Given the description of an element on the screen output the (x, y) to click on. 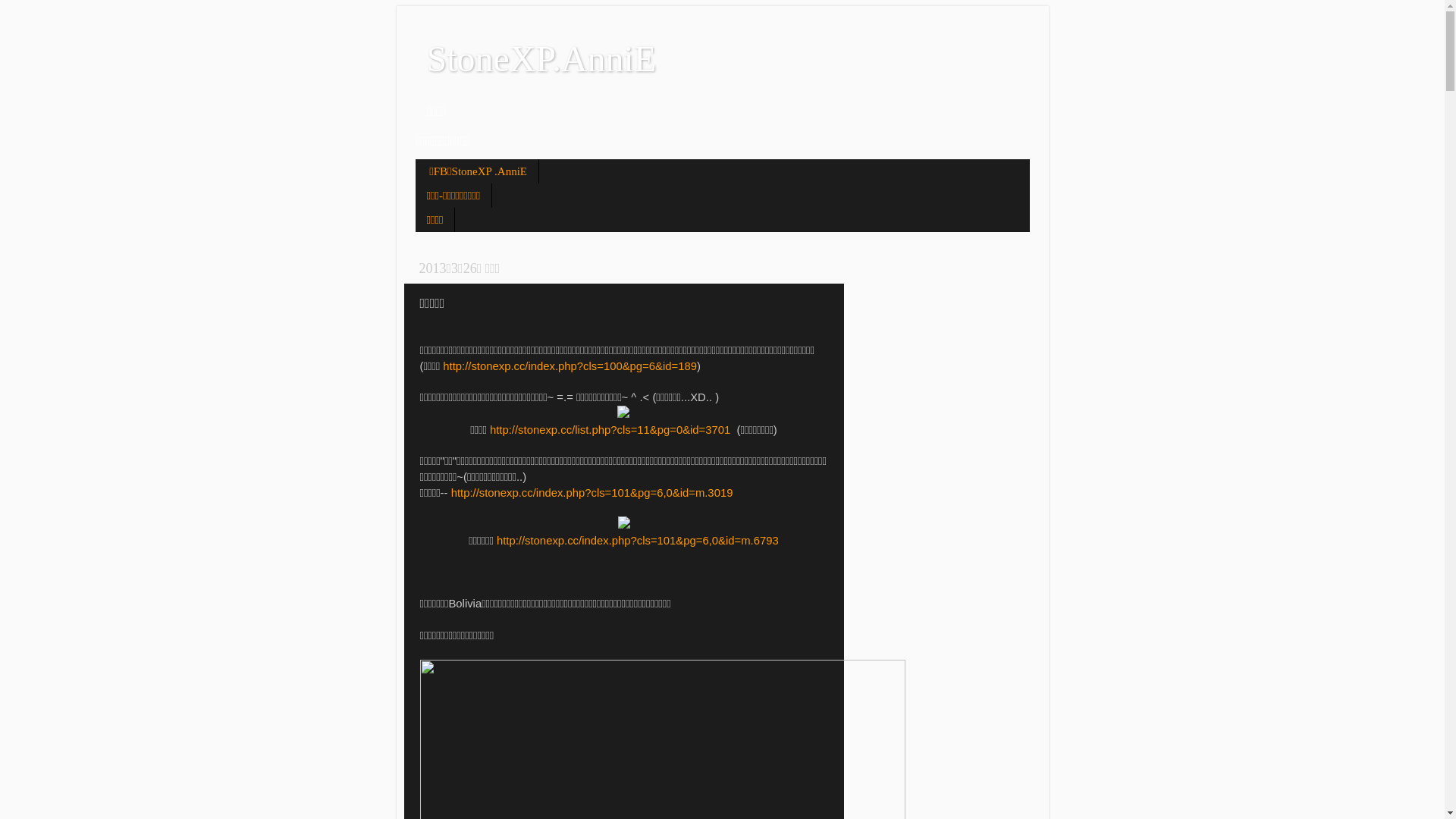
StoneXP.AnniE Element type: text (540, 58)
http://stonexp.cc/index.php?cls=100&pg=6&id=189 Element type: text (569, 366)
http://stonexp.cc/list.php?cls=11&pg=0&id=3701 Element type: text (609, 429)
http://stonexp.cc/index.php?cls=101&pg=6,0&id=m.3019 Element type: text (592, 492)
http://stonexp.cc/index.php?cls=101&pg=6,0&id=m.6793 Element type: text (637, 540)
